Given the description of an element on the screen output the (x, y) to click on. 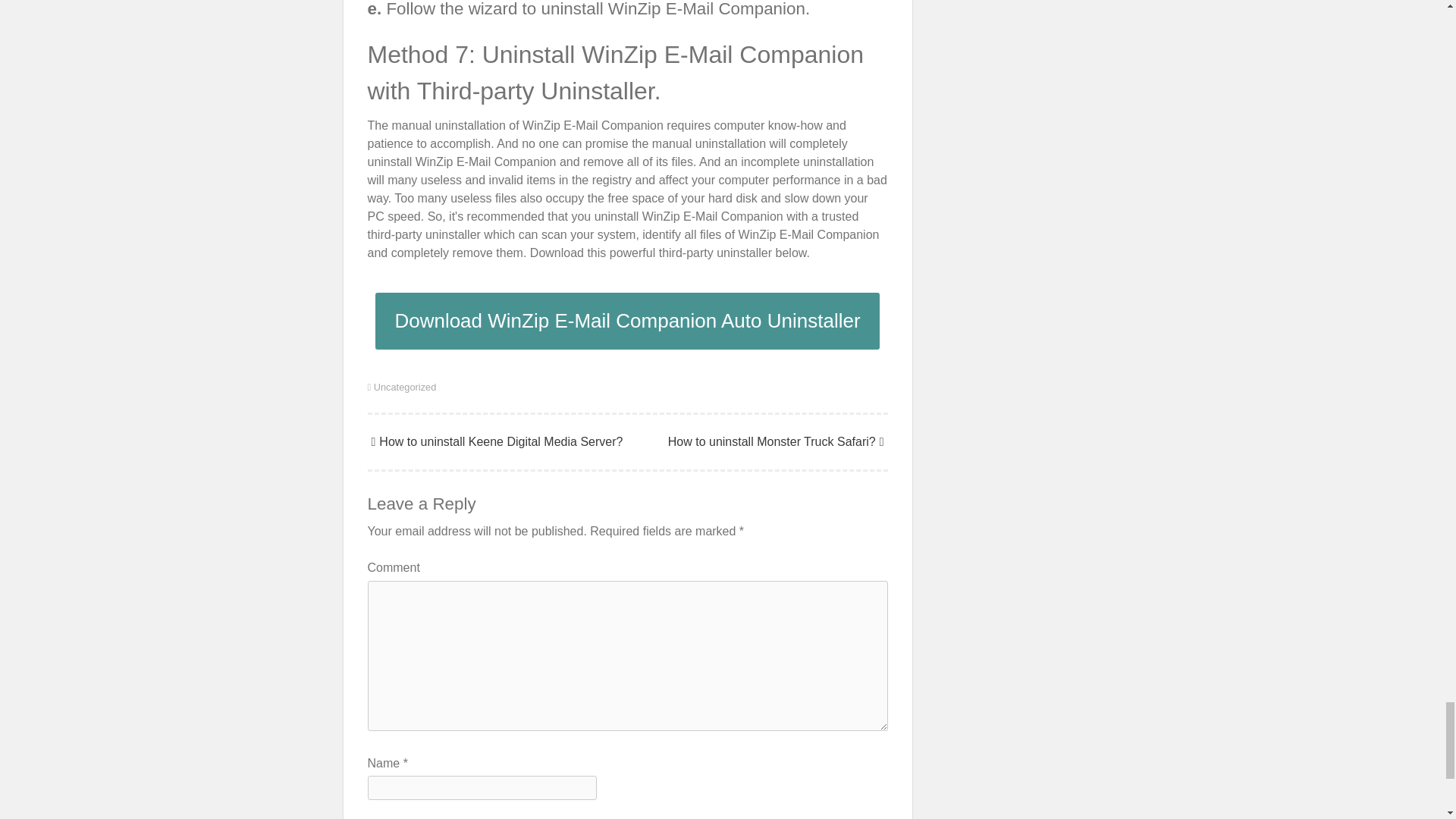
How to uninstall Monster Truck Safari? (778, 440)
How to uninstall Keene Digital Media Server? (494, 440)
Download WinZip E-Mail Companion Auto Uninstaller (627, 320)
